Given the description of an element on the screen output the (x, y) to click on. 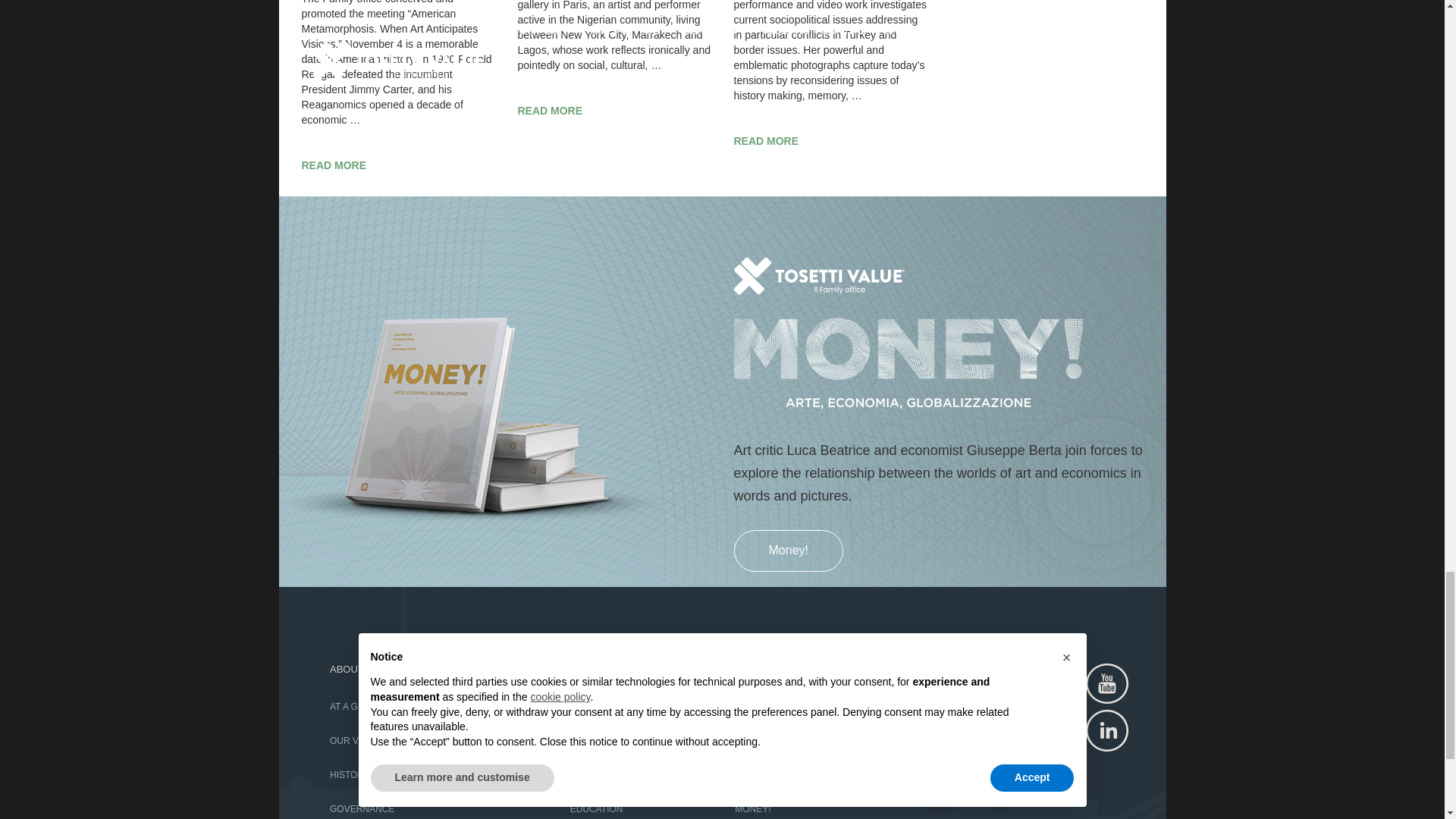
READ MORE (398, 165)
